Given the description of an element on the screen output the (x, y) to click on. 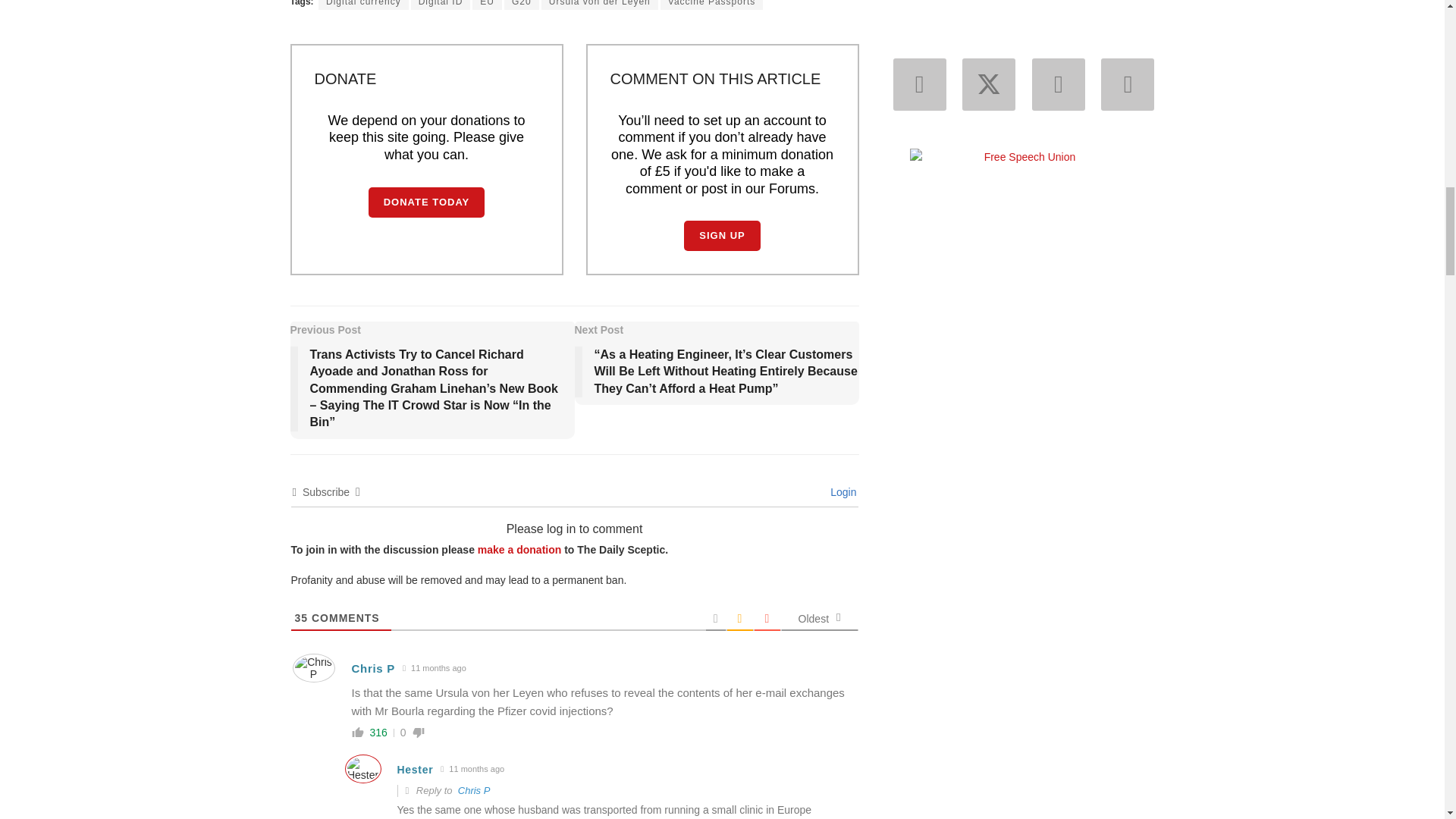
Digital ID (440, 4)
35 (300, 617)
Digital currency (363, 4)
14 September 2023 5:07 pm (434, 667)
G20 (520, 4)
Vaccine Passports (711, 4)
0 (403, 732)
EU (486, 4)
Make a donation (518, 549)
316 (378, 732)
